Given the description of an element on the screen output the (x, y) to click on. 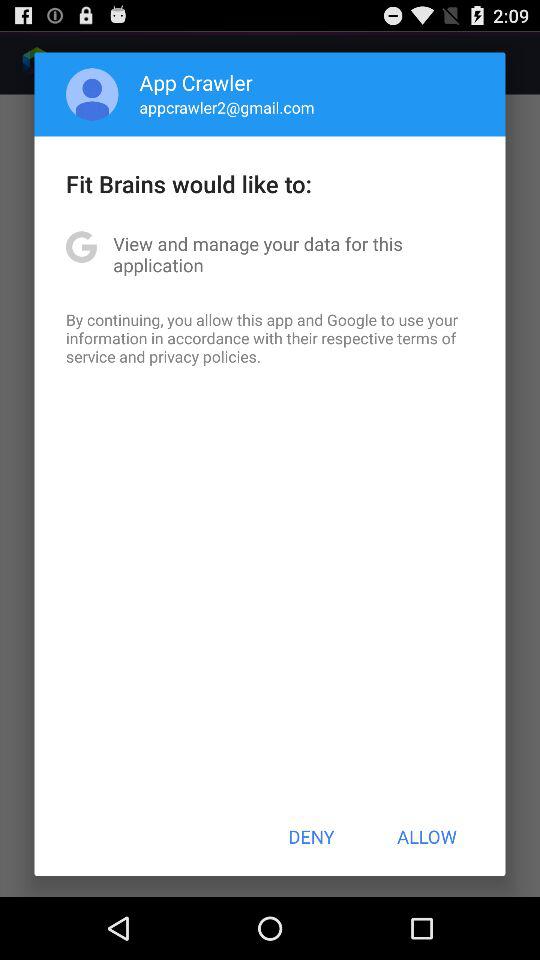
launch deny (311, 836)
